Given the description of an element on the screen output the (x, y) to click on. 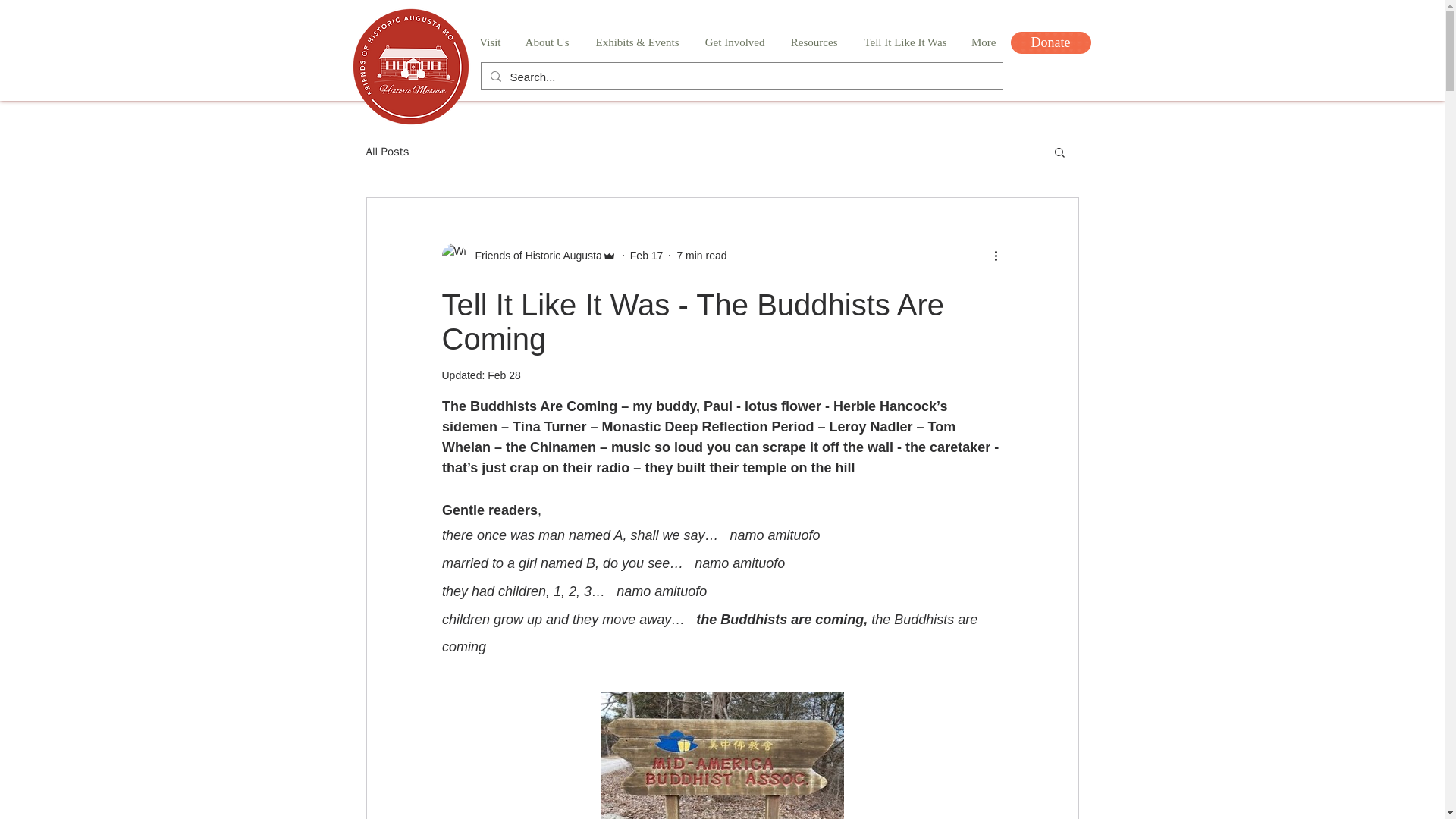
Donate (1050, 42)
Resources (812, 42)
7 min read (701, 254)
Feb 17 (646, 254)
All Posts (387, 151)
Friends of Historic Augusta (533, 254)
Visit (489, 42)
About Us (546, 42)
Feb 28 (504, 375)
Tell It Like It Was (903, 42)
Friends of Historic Augusta (528, 255)
Get Involved (733, 42)
